Given the description of an element on the screen output the (x, y) to click on. 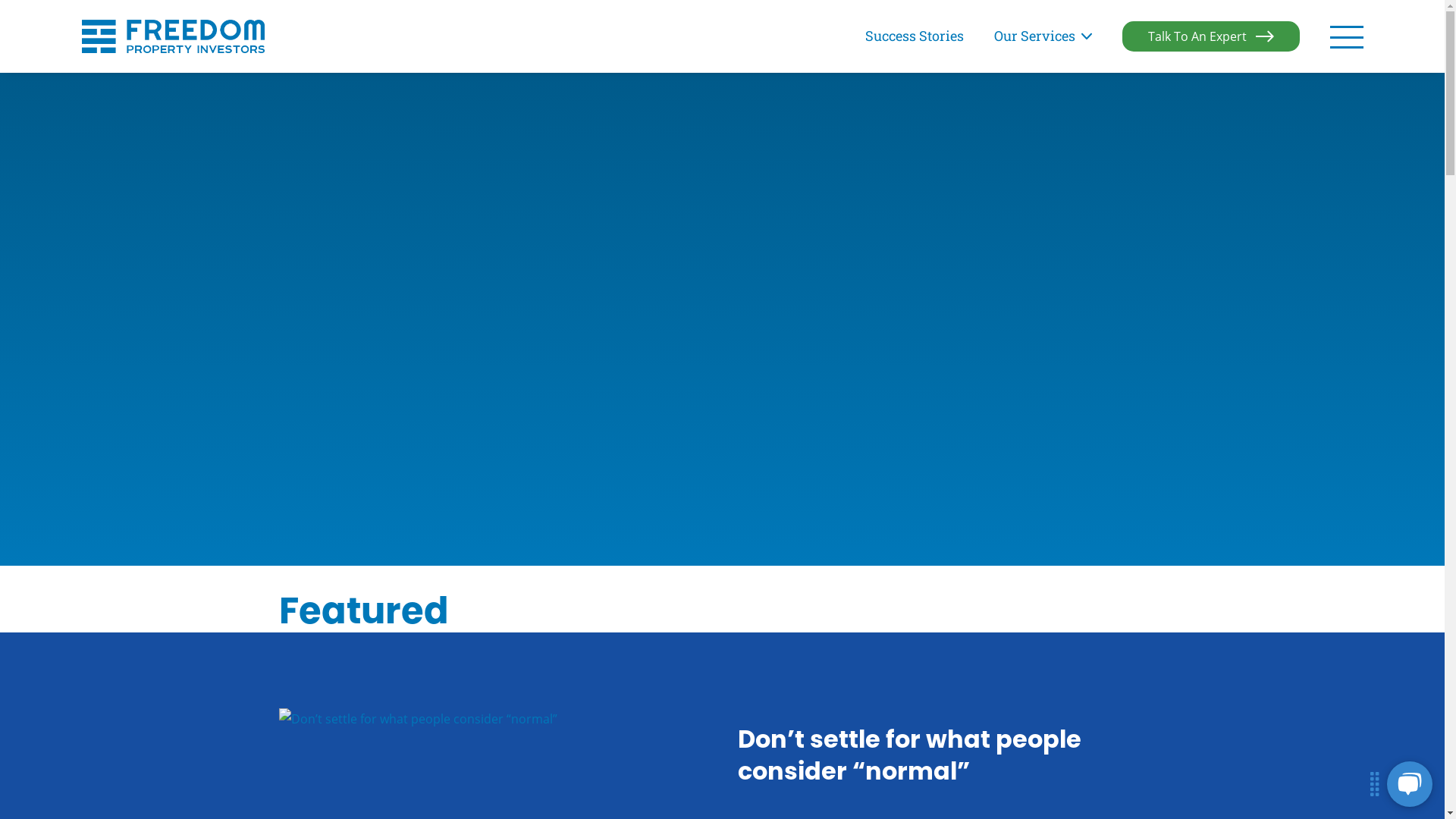
Drag Element type: hover (1374, 783)
Success Stories Element type: text (913, 36)
Our Services Element type: text (1042, 36)
Talk To An Expert Element type: text (1210, 36)
